Given the description of an element on the screen output the (x, y) to click on. 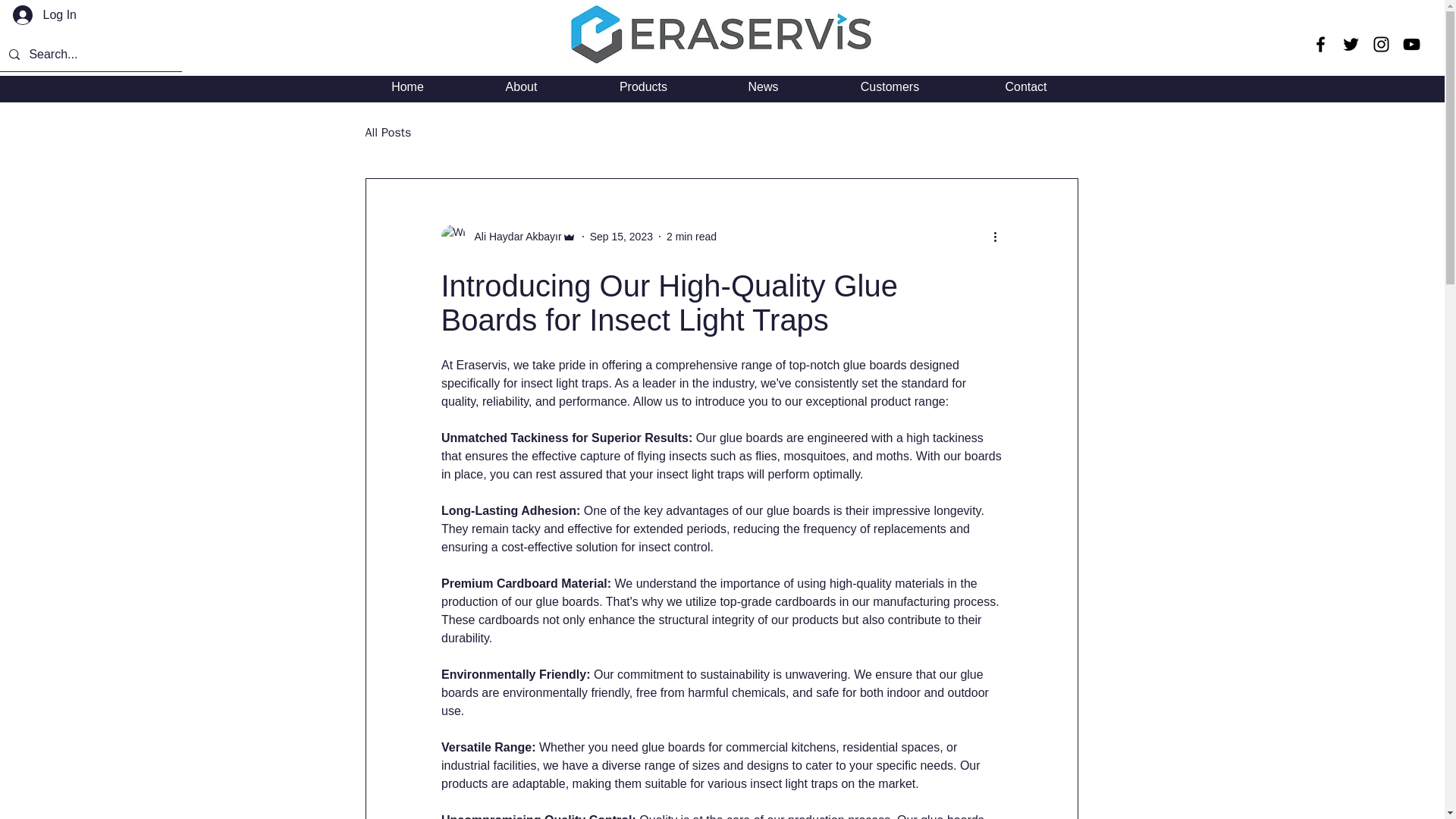
Contact (1024, 87)
All Posts (388, 132)
2 min read (691, 236)
Home (407, 87)
Customers (888, 87)
About (521, 87)
Sep 15, 2023 (620, 236)
News (761, 87)
Log In (44, 14)
Products (642, 87)
